Given the description of an element on the screen output the (x, y) to click on. 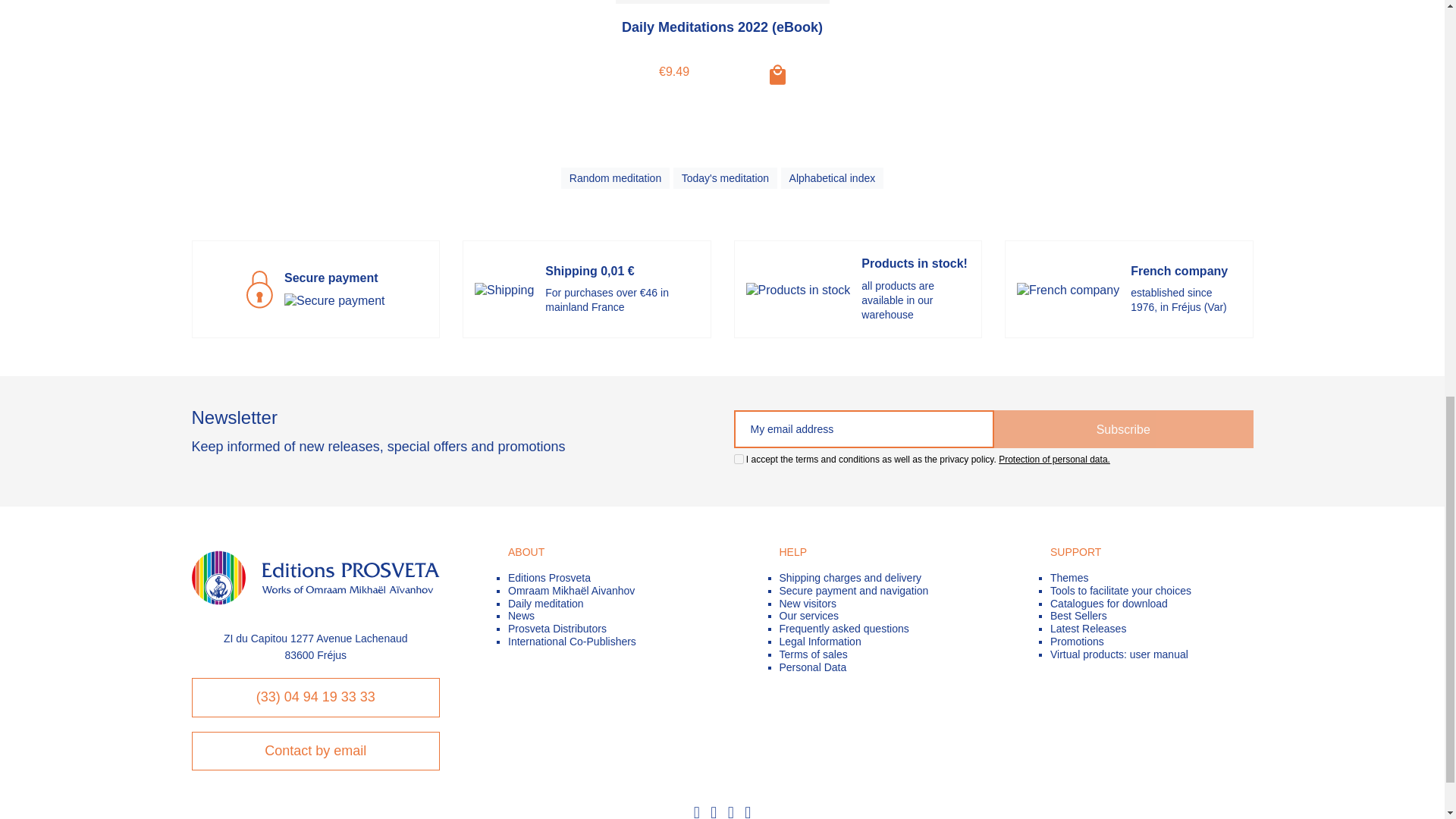
Subscribe (1122, 428)
1 (738, 459)
